Given the description of an element on the screen output the (x, y) to click on. 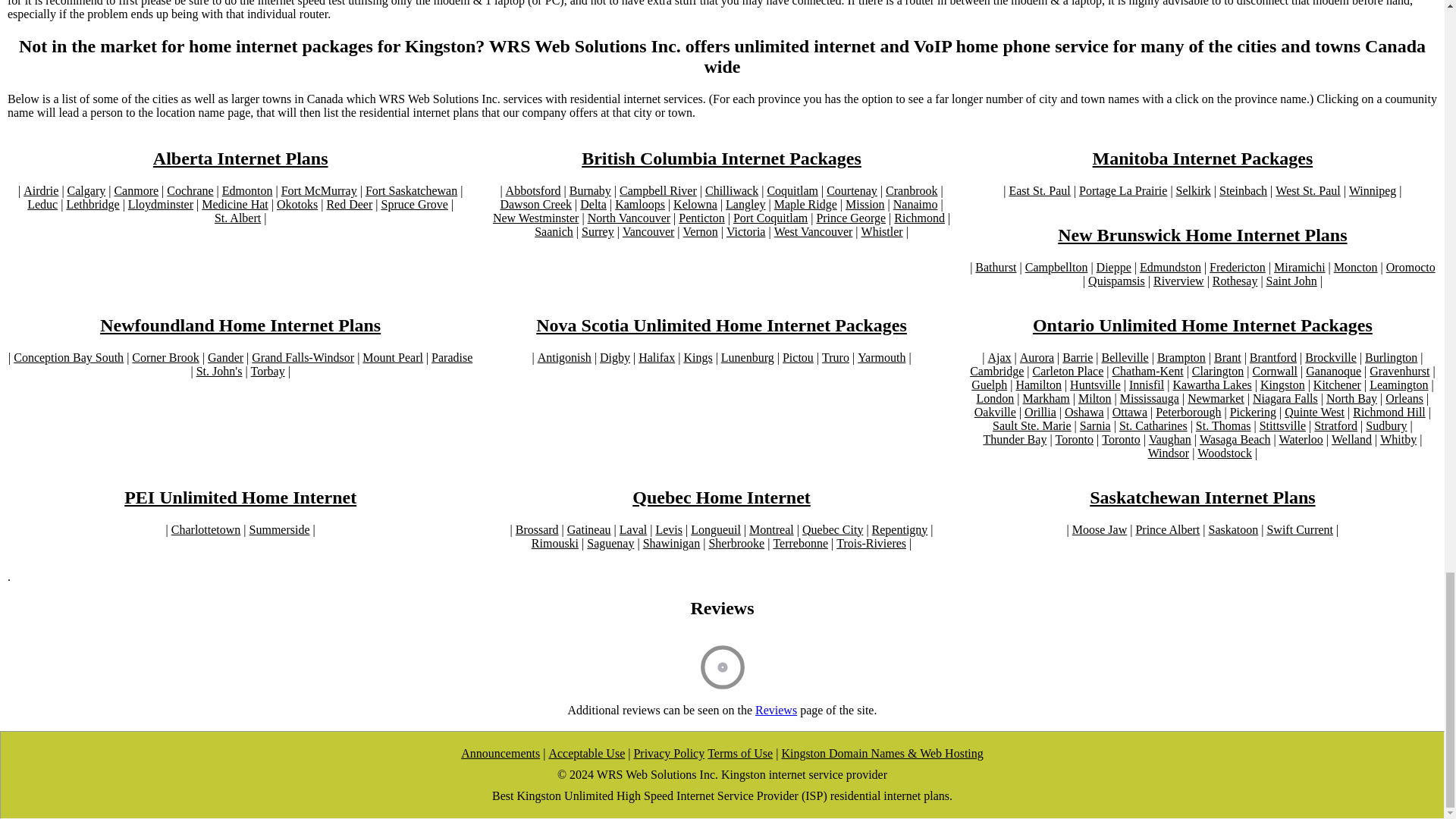
Leduc (42, 204)
Fort McMurray (318, 191)
Red Deer (349, 204)
Canmore (135, 191)
Spruce Grove (413, 204)
Lethbridge (92, 204)
Calgary (86, 191)
Cochrane (189, 191)
Lloydminster (160, 204)
Medicine Hat (234, 204)
